Given the description of an element on the screen output the (x, y) to click on. 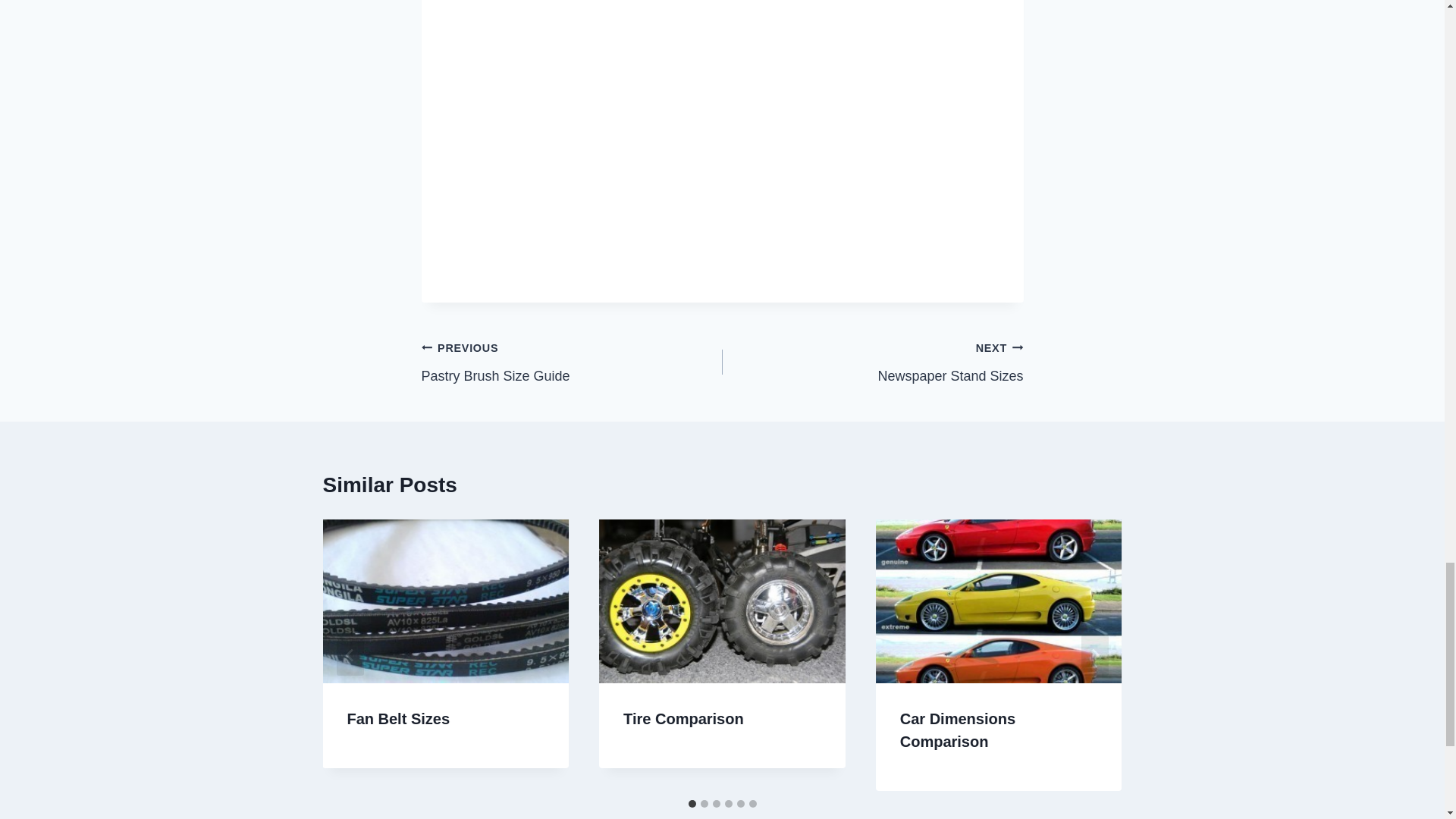
Advertisement (572, 361)
Advertisement (721, 170)
